Given the description of an element on the screen output the (x, y) to click on. 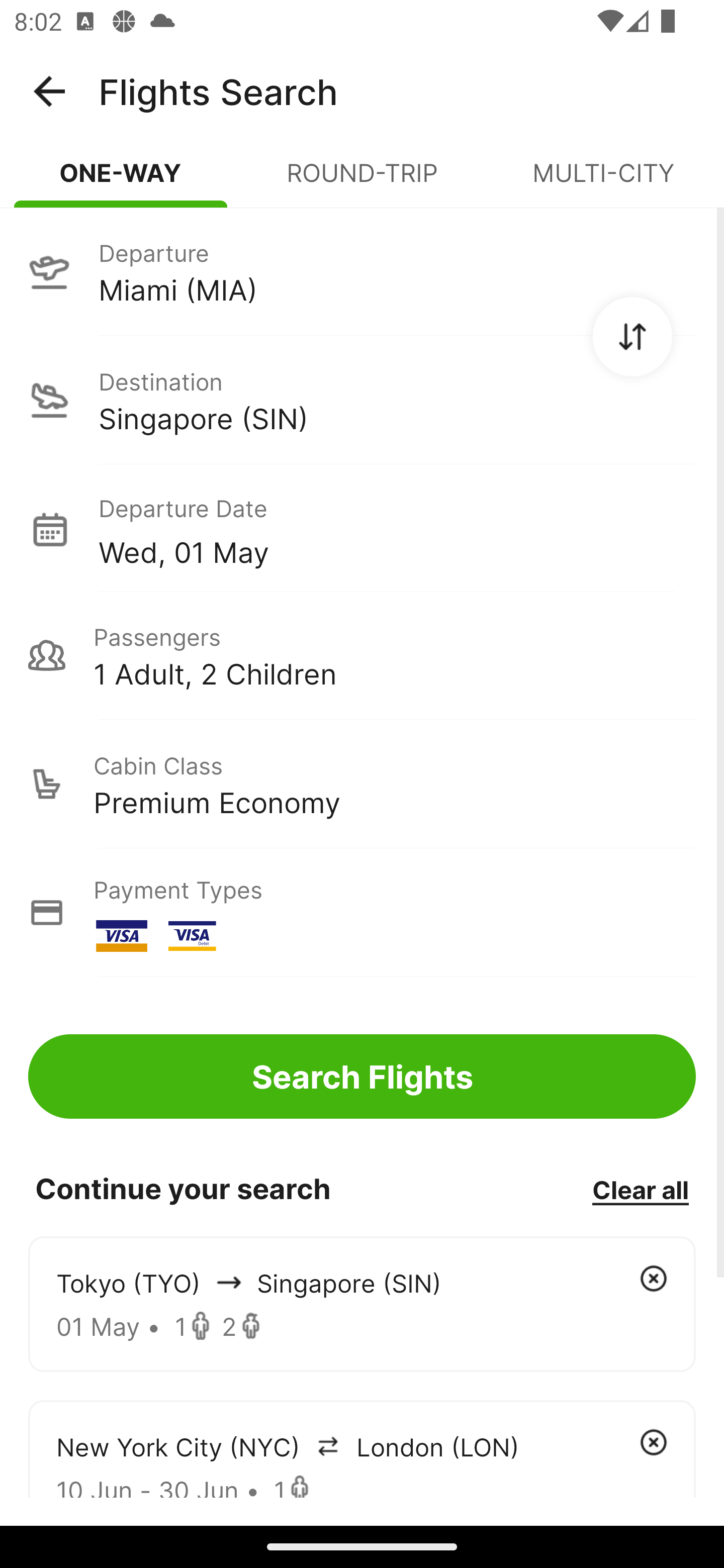
ONE-WAY (120, 180)
ROUND-TRIP (361, 180)
MULTI-CITY (603, 180)
Departure Miami (MIA) (362, 270)
Destination Singapore (SIN) (362, 400)
Departure Date Wed, 01 May (396, 528)
Passengers 1 Adult, 2 Children (362, 655)
Cabin Class Premium Economy (362, 783)
Payment Types (362, 912)
Search Flights (361, 1075)
Clear all (640, 1189)
